Given the description of an element on the screen output the (x, y) to click on. 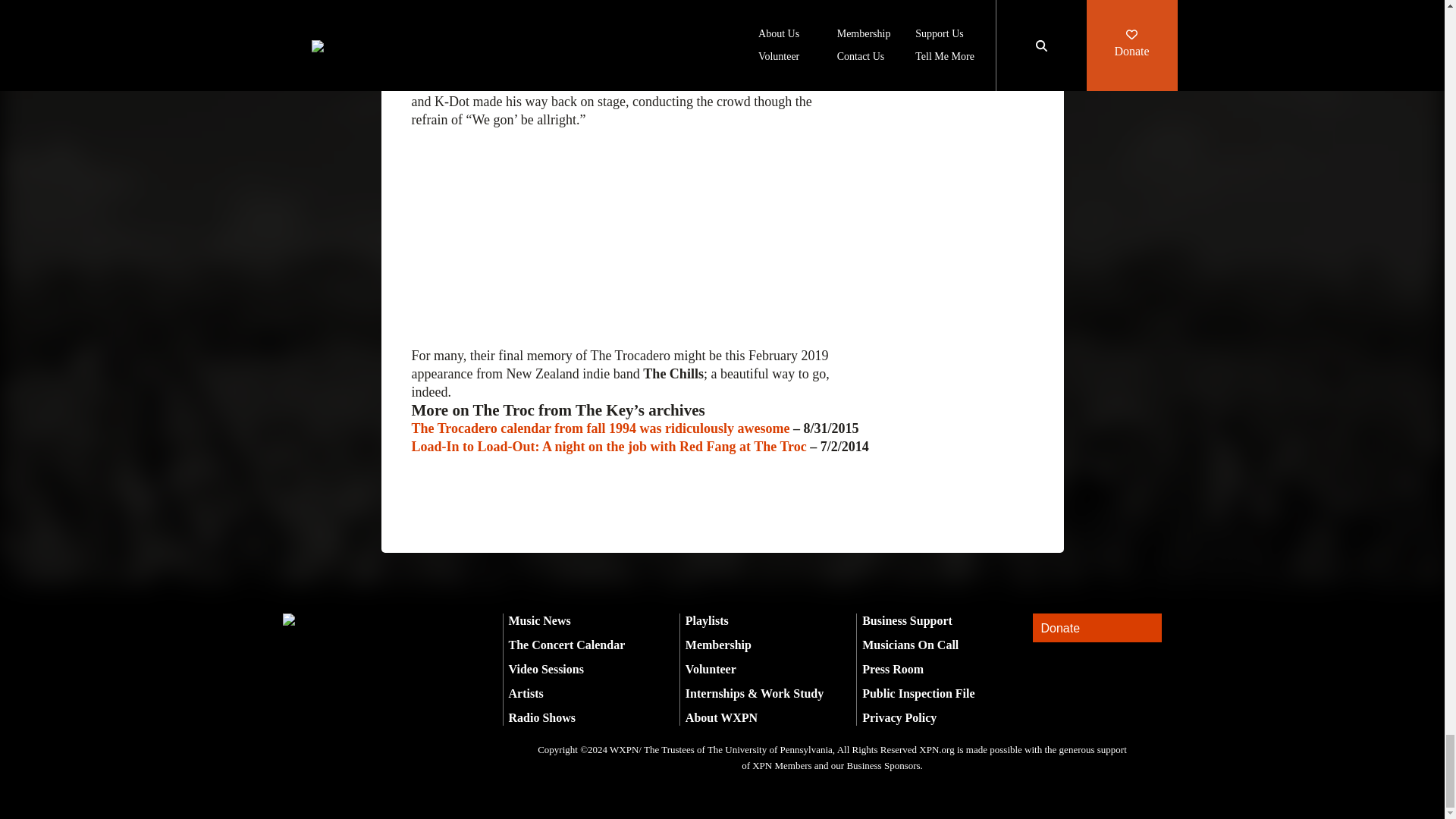
Volunteer (710, 668)
Press Room (892, 668)
Business Support (906, 620)
Donate (1096, 627)
About WXPN (721, 717)
Playlists (707, 620)
Music News (539, 620)
Video Sessions (545, 668)
The Concert Calendar (566, 644)
